Given the description of an element on the screen output the (x, y) to click on. 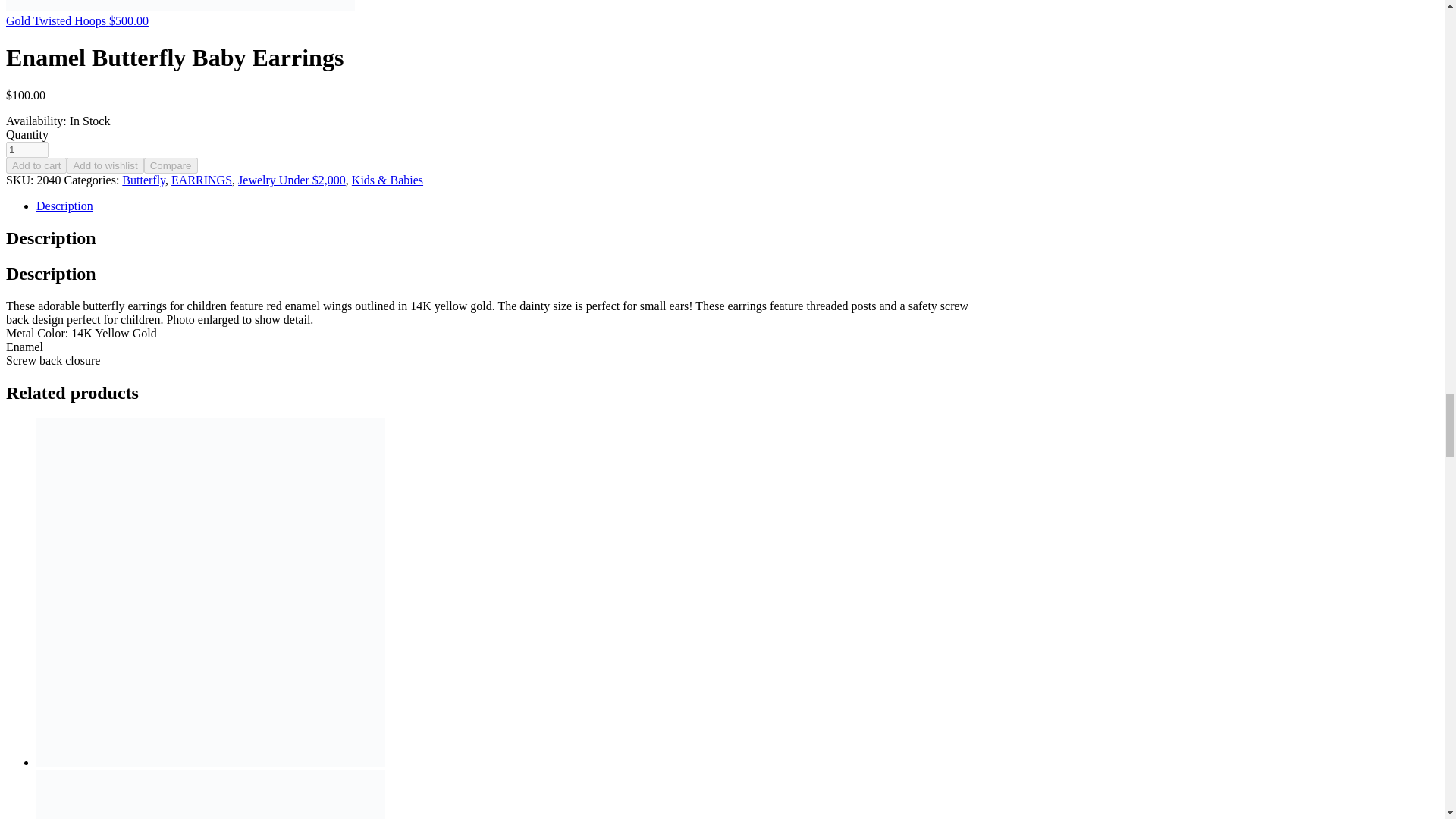
Qty (26, 149)
Add to cart (35, 165)
1 (26, 149)
